Given the description of an element on the screen output the (x, y) to click on. 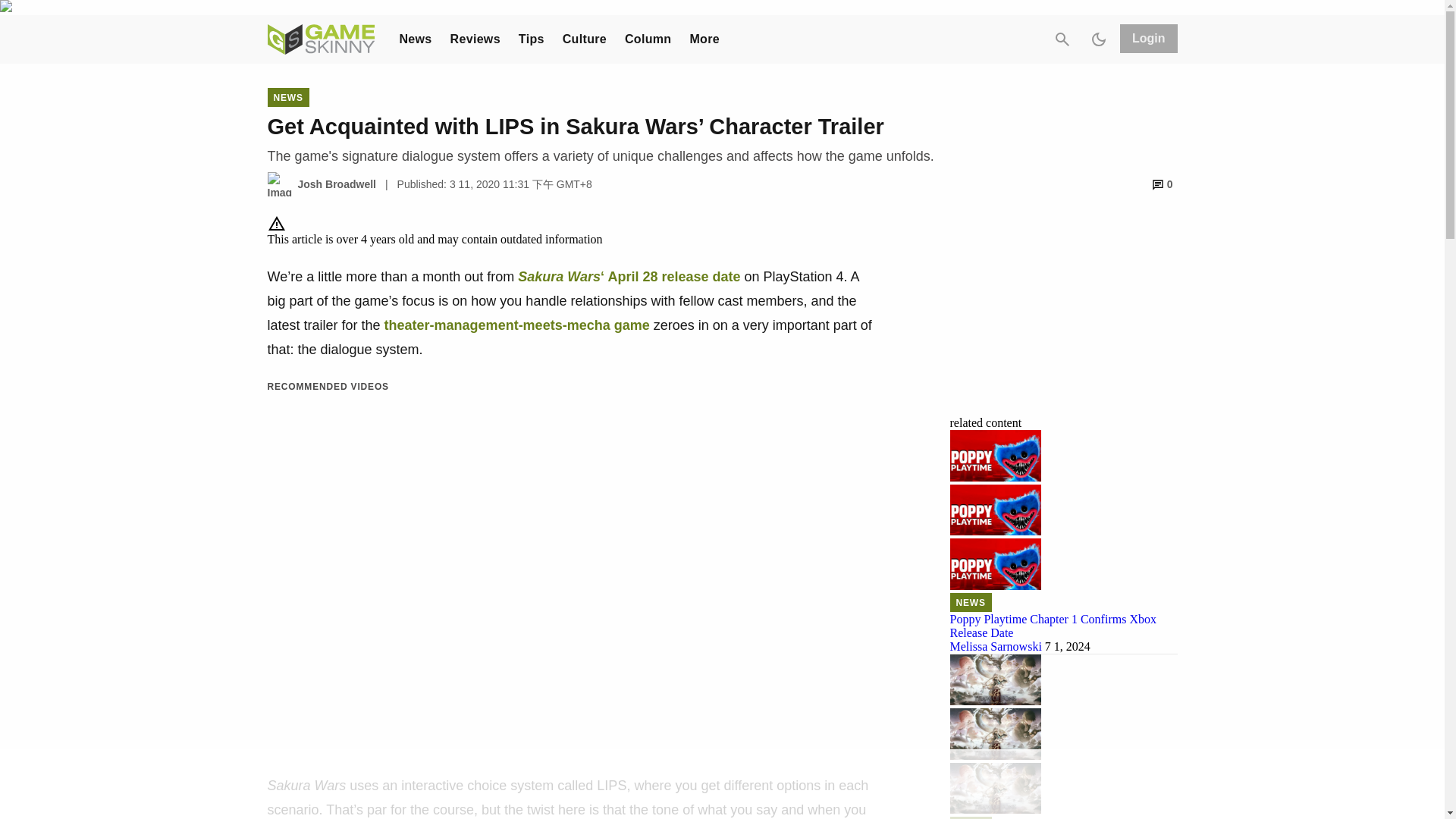
3rd party ad content (1062, 309)
Search (1061, 39)
Column (647, 38)
Dark Mode (1098, 39)
Reviews (474, 38)
3rd party ad content (721, 785)
News (414, 38)
Login (1148, 38)
Culture (584, 38)
